Given the description of an element on the screen output the (x, y) to click on. 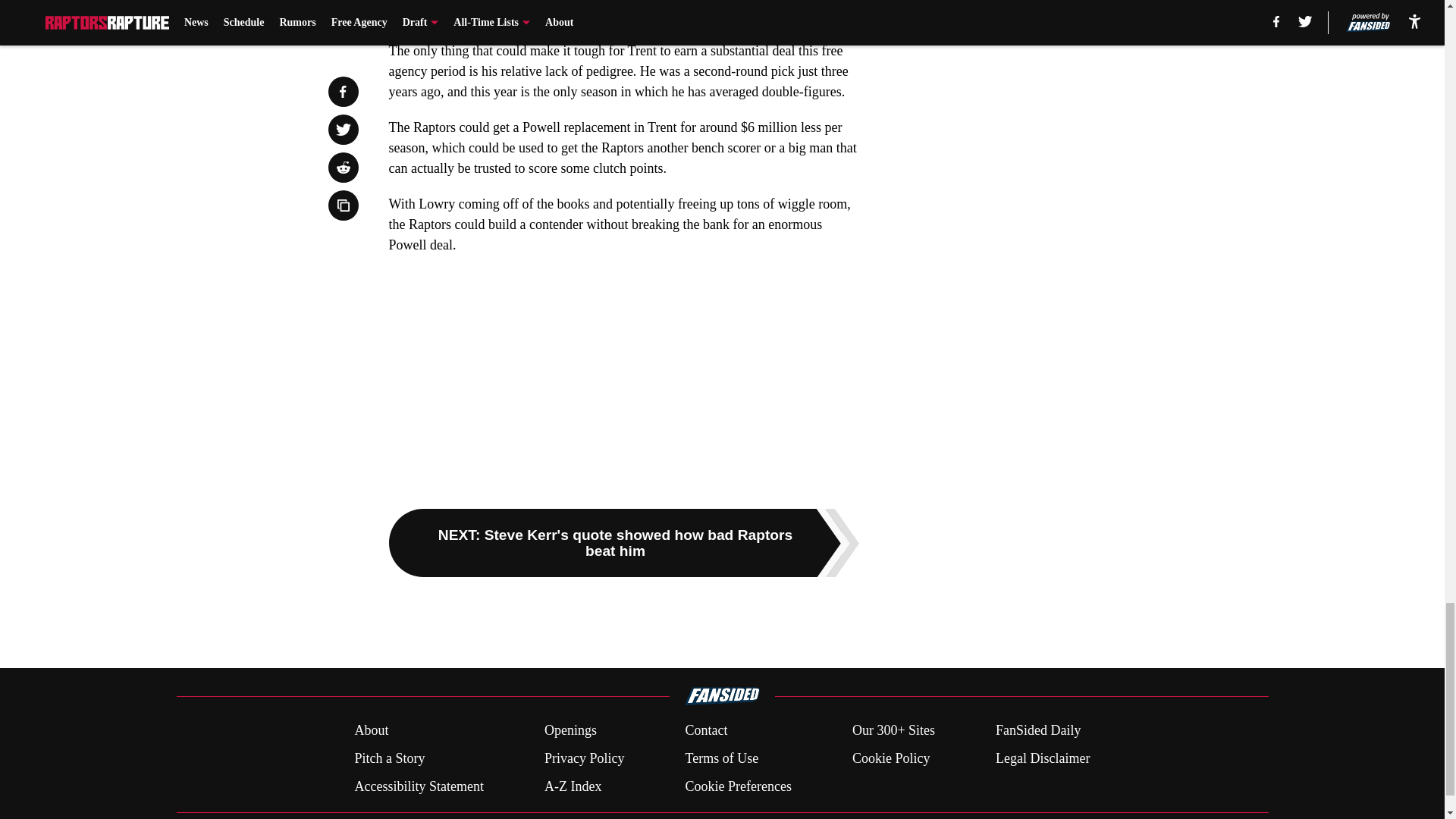
Contact (705, 730)
NEXT: Steve Kerr's quote showed how bad Raptors beat him (623, 542)
Openings (570, 730)
About (370, 730)
